Given the description of an element on the screen output the (x, y) to click on. 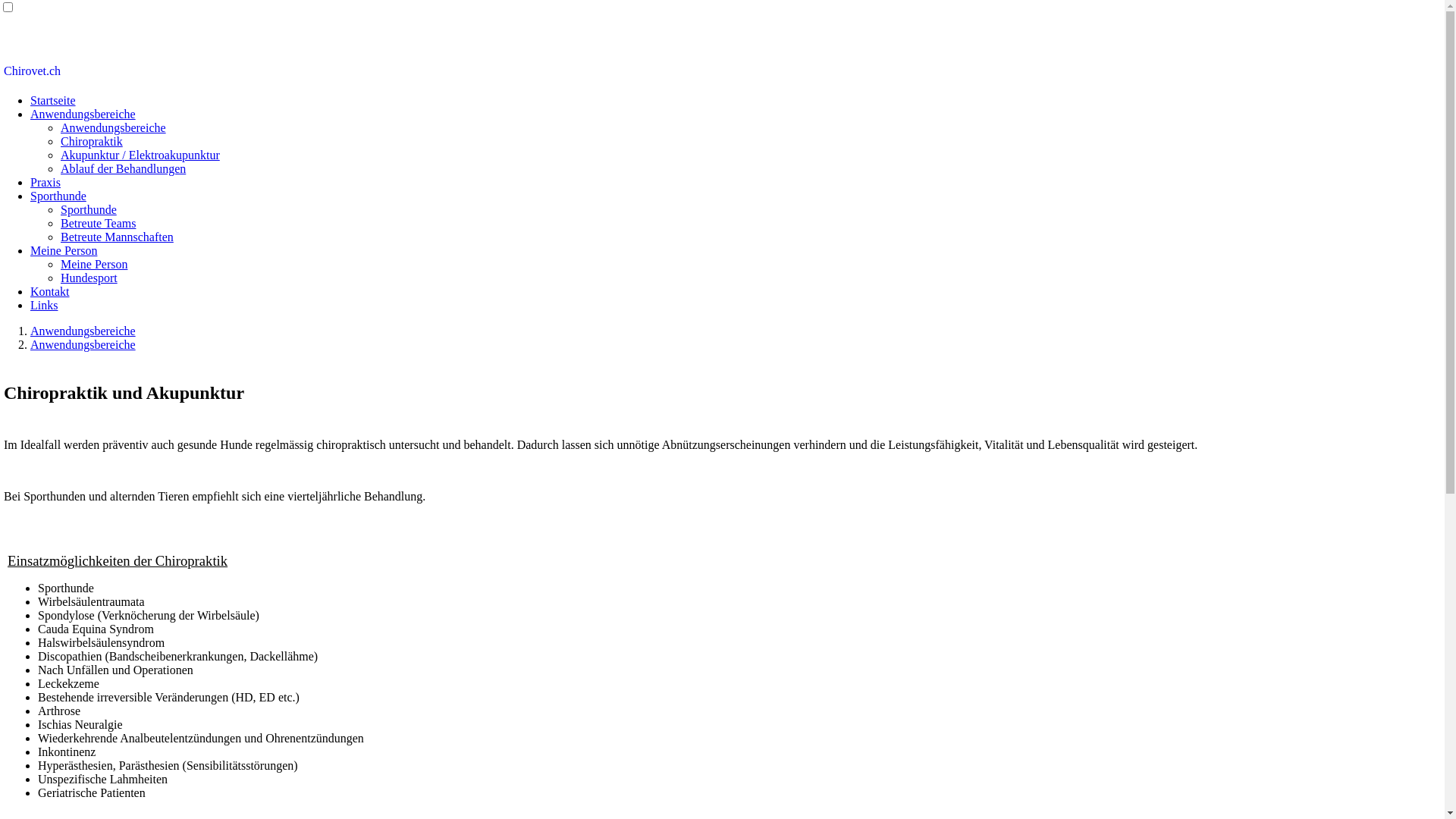
Startseite Element type: text (52, 100)
Chirovet.ch Element type: text (31, 70)
Anwendungsbereiche Element type: text (82, 113)
Anwendungsbereiche Element type: text (82, 344)
Chiropraktik Element type: text (91, 140)
Sporthunde Element type: text (58, 195)
Ablauf der Behandlungen Element type: text (122, 168)
Betreute Teams Element type: text (97, 222)
Meine Person Element type: text (63, 250)
Anwendungsbereiche Element type: text (113, 127)
Meine Person Element type: text (93, 263)
Akupunktur / Elektroakupunktur Element type: text (139, 154)
Kontakt Element type: text (49, 291)
Hundesport Element type: text (88, 277)
Sporthunde Element type: text (88, 209)
Praxis Element type: text (45, 181)
Betreute Mannschaften Element type: text (116, 236)
Links Element type: text (43, 304)
Anwendungsbereiche Element type: text (82, 330)
